Given the description of an element on the screen output the (x, y) to click on. 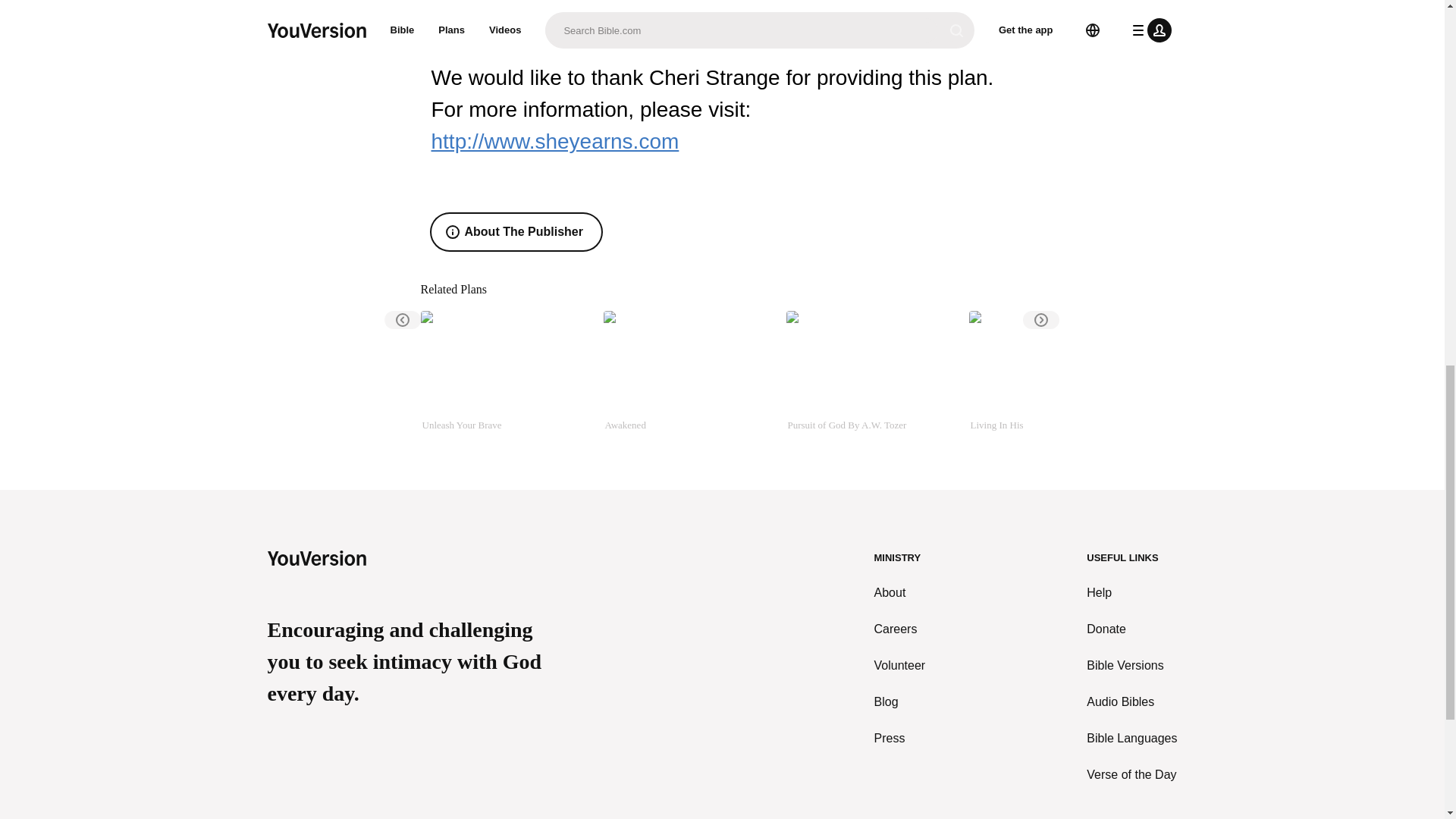
Volunteer (900, 665)
Bible Languages (1131, 738)
Careers (900, 628)
About (900, 592)
Awakened (689, 379)
Verse of the Day (1131, 774)
Help (1131, 592)
Bible Versions (1131, 665)
Donate (1131, 628)
About The Publisher (514, 231)
